Given the description of an element on the screen output the (x, y) to click on. 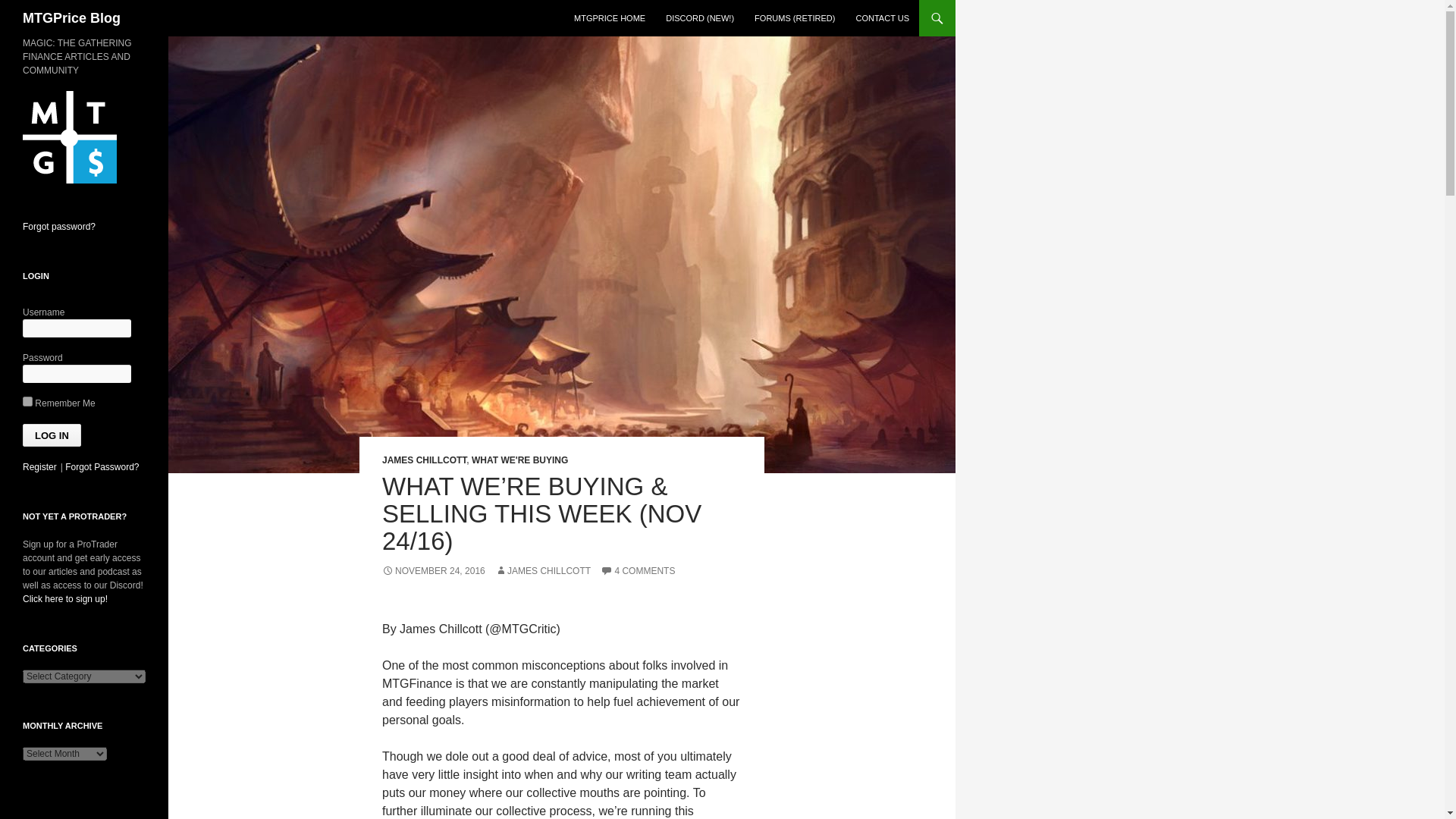
Log In (52, 435)
Forgot password? (59, 226)
JAMES CHILLCOTT (423, 460)
Forgot Password (101, 466)
CONTACT US (881, 18)
NOVEMBER 24, 2016 (432, 570)
Register (39, 466)
Register (39, 466)
JAMES CHILLCOTT (543, 570)
MTGPRICE HOME (608, 18)
forever (27, 401)
Log In (52, 435)
Forgot Password? (101, 466)
4 COMMENTS (637, 570)
WHAT WE'RE BUYING (519, 460)
